Given the description of an element on the screen output the (x, y) to click on. 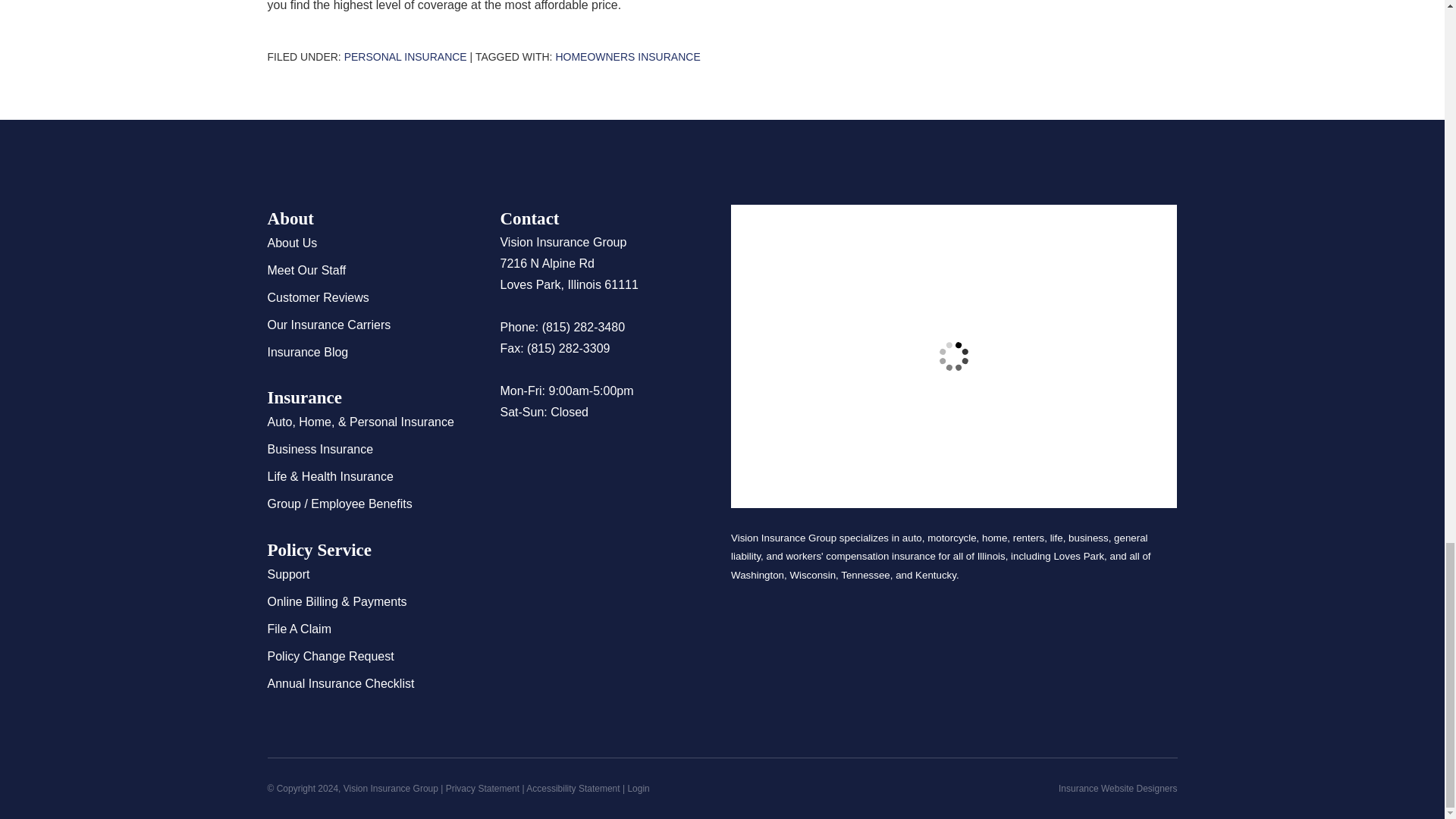
Homeowners Insurance (627, 56)
Google Maps (511, 457)
Personal Insurance (405, 56)
